Given the description of an element on the screen output the (x, y) to click on. 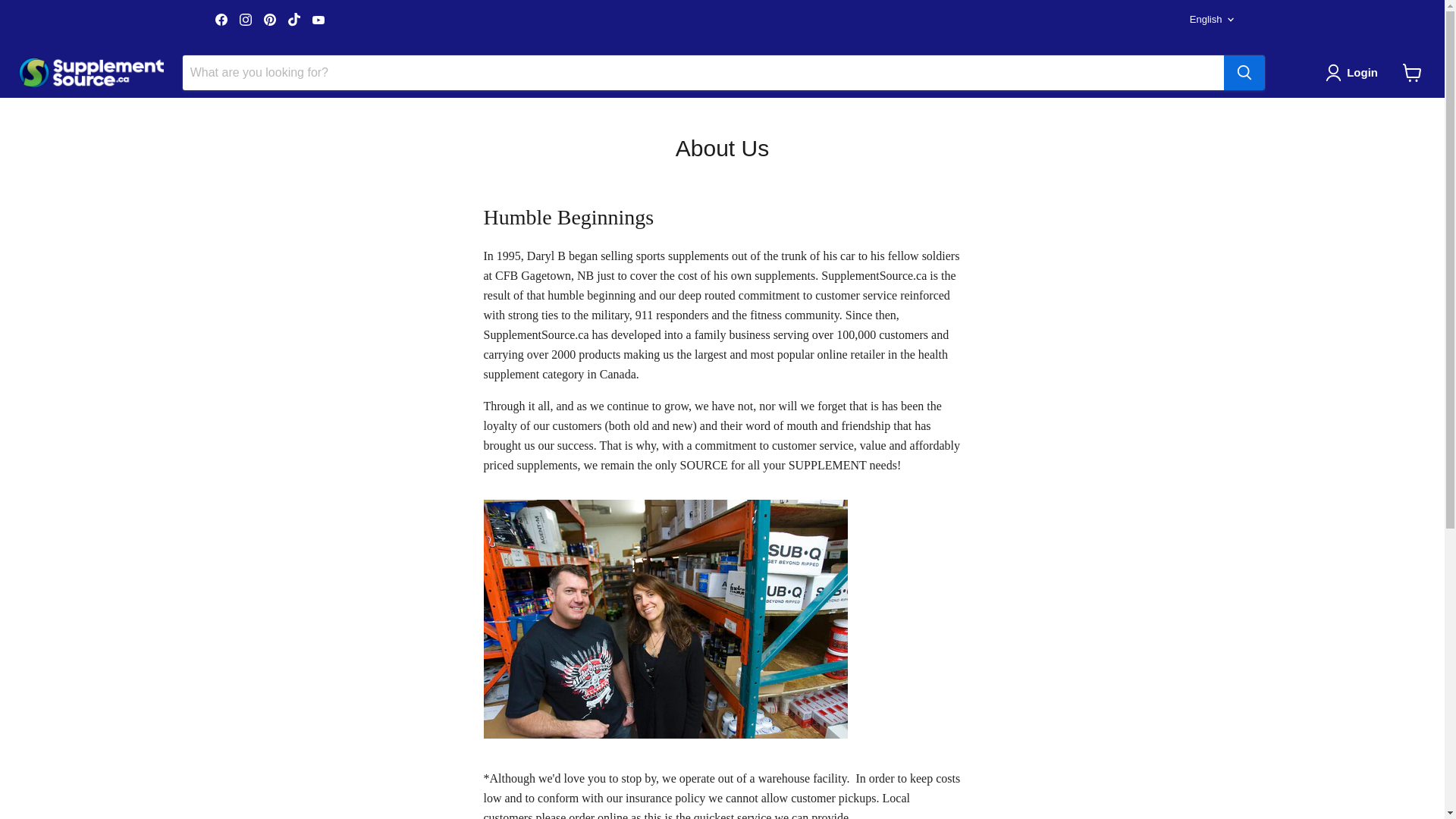
Pinterest (270, 19)
Find us on Facebook (221, 19)
Find us on Instagram (245, 19)
English (1208, 19)
Find us on TikTok (293, 19)
View cart (1411, 72)
TikTok (293, 19)
YouTube (318, 19)
Facebook (221, 19)
Instagram (245, 19)
